Given the description of an element on the screen output the (x, y) to click on. 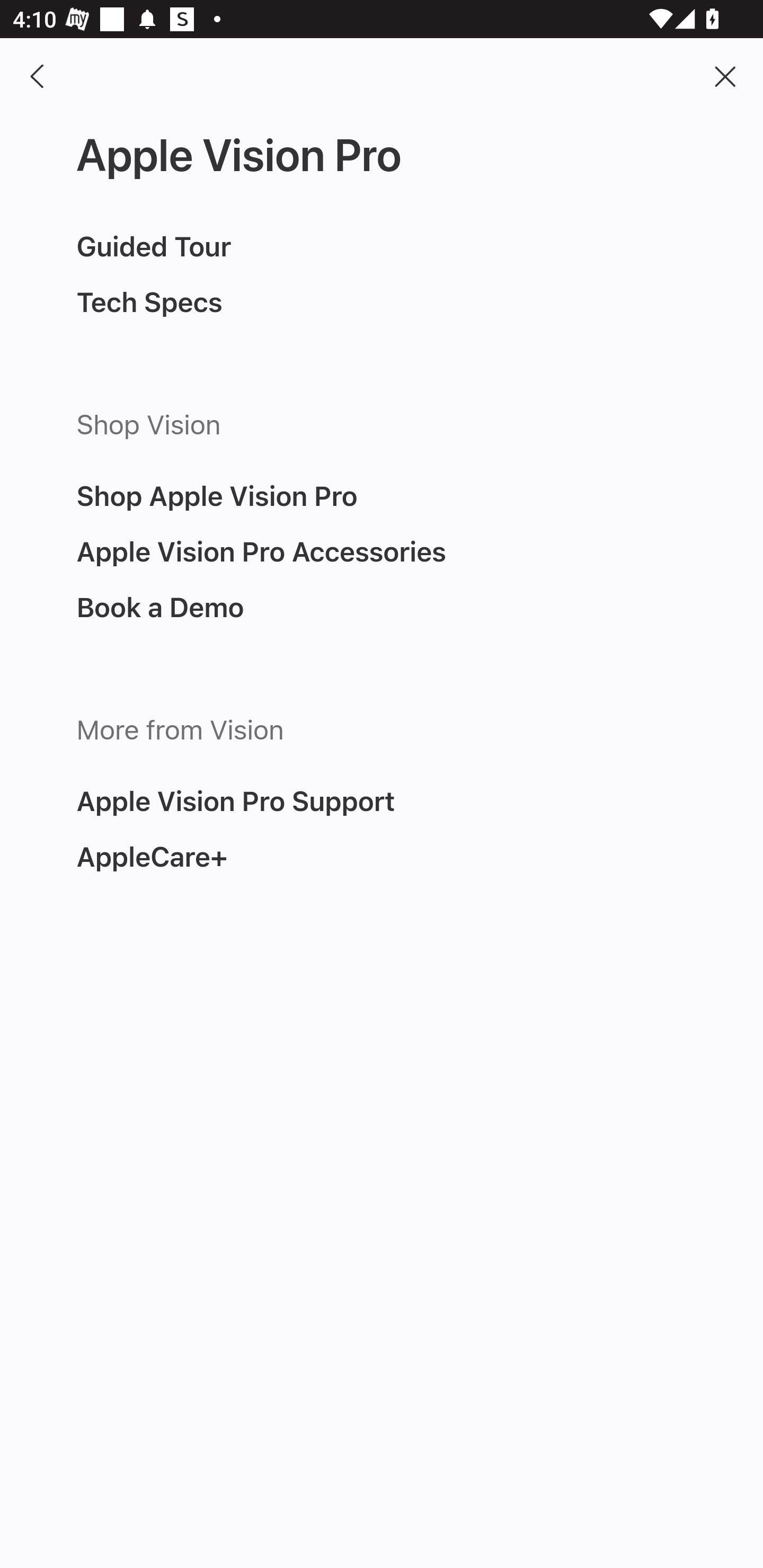
Main menu (38, 75)
Close (724, 75)
Apple Vision Pro (238, 155)
Guided Tour (153, 245)
Tech Specs (149, 301)
Shop Apple Vision Pro (216, 495)
Apple Vision Pro Accessories (260, 551)
Book a Demo (160, 606)
Apple Vision Pro Support (235, 800)
AppleCare+ (151, 856)
